Given the description of an element on the screen output the (x, y) to click on. 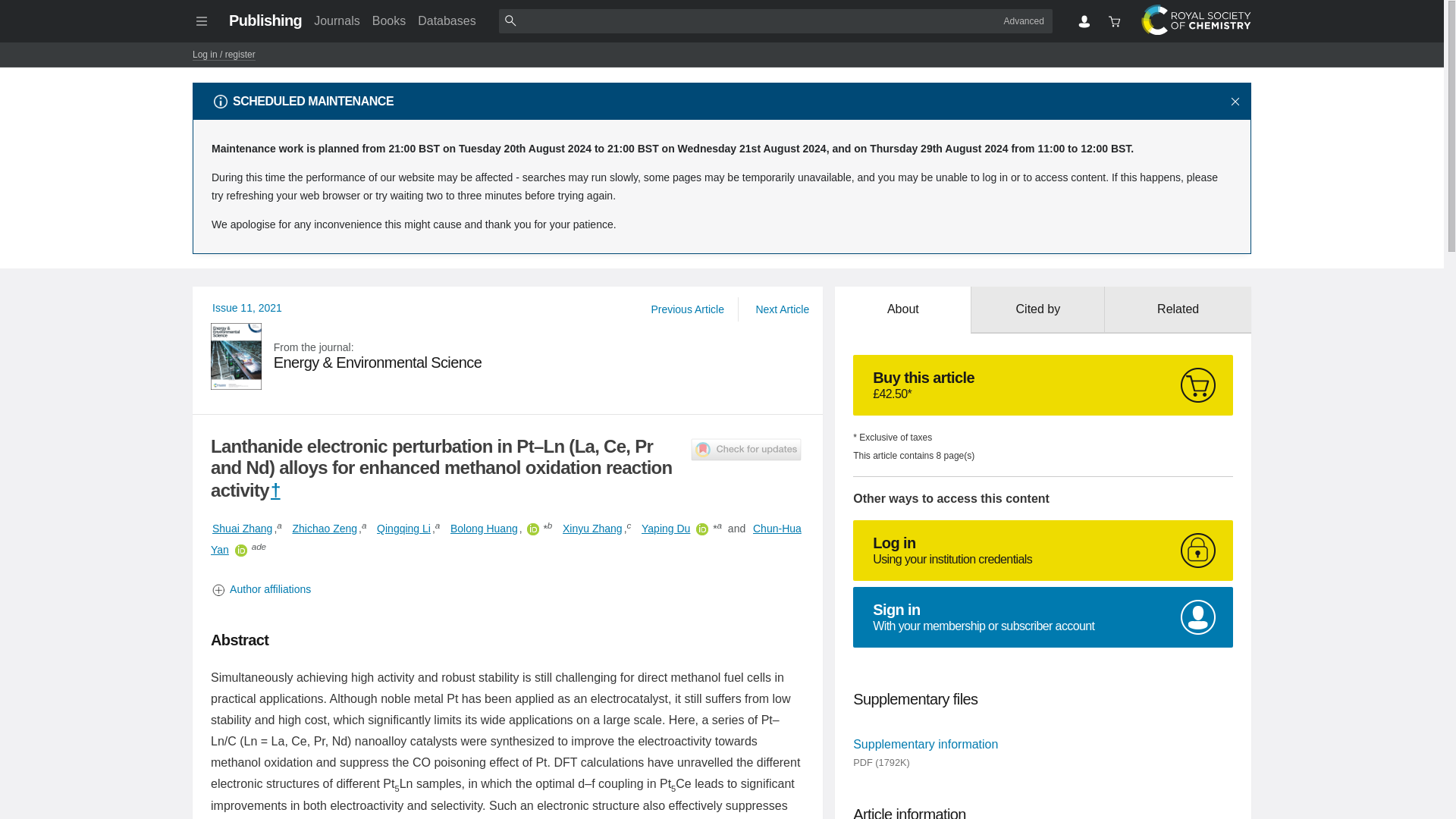
About (902, 309)
Author affiliations (508, 589)
Previous Article (687, 309)
Advanced (1023, 20)
Databases (446, 20)
Publishing home page (264, 20)
Issue 11, 2021 (247, 307)
Yaping Du (665, 528)
Next Article (781, 309)
Zhichao Zeng (323, 528)
